Given the description of an element on the screen output the (x, y) to click on. 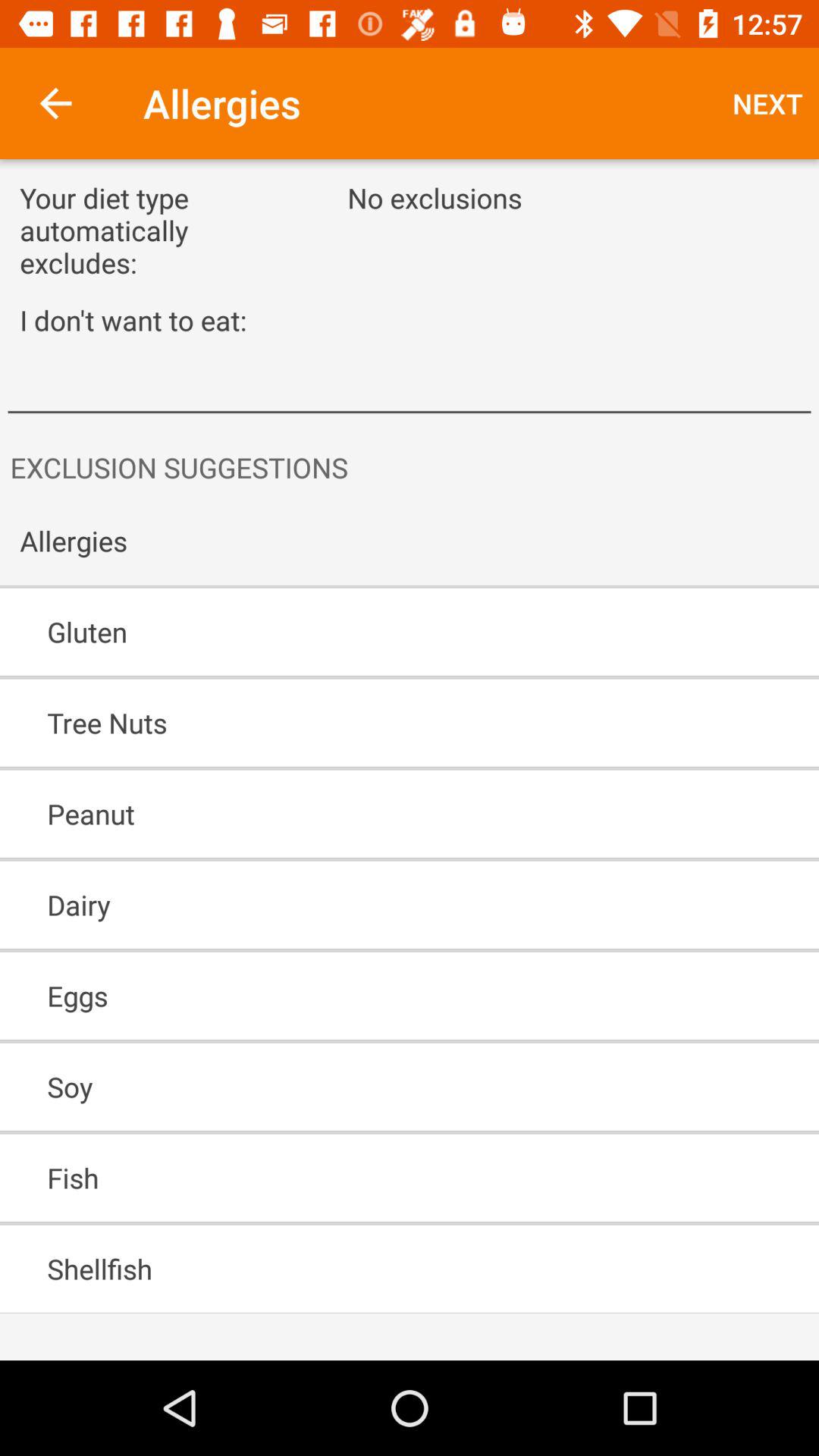
turn off the icon to the left of allergies item (55, 103)
